Given the description of an element on the screen output the (x, y) to click on. 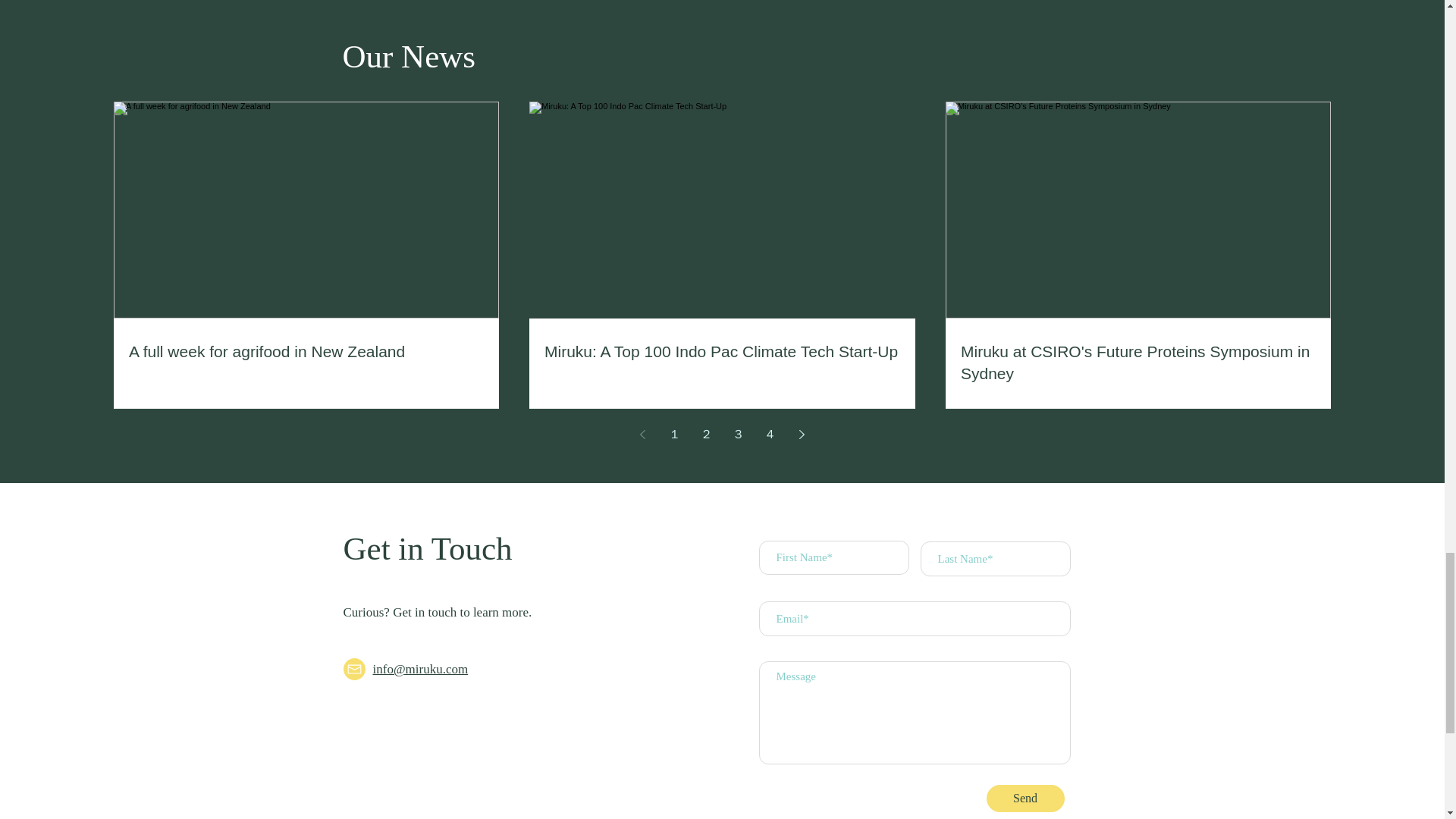
Send (1024, 798)
2 (706, 433)
Miruku: A Top 100 Indo Pac Climate Tech Start-Up (721, 351)
4 (770, 433)
Miruku at CSIRO's Future Proteins Symposium in Sydney (1138, 362)
3 (738, 433)
A full week for agrifood in New Zealand (306, 351)
